Given the description of an element on the screen output the (x, y) to click on. 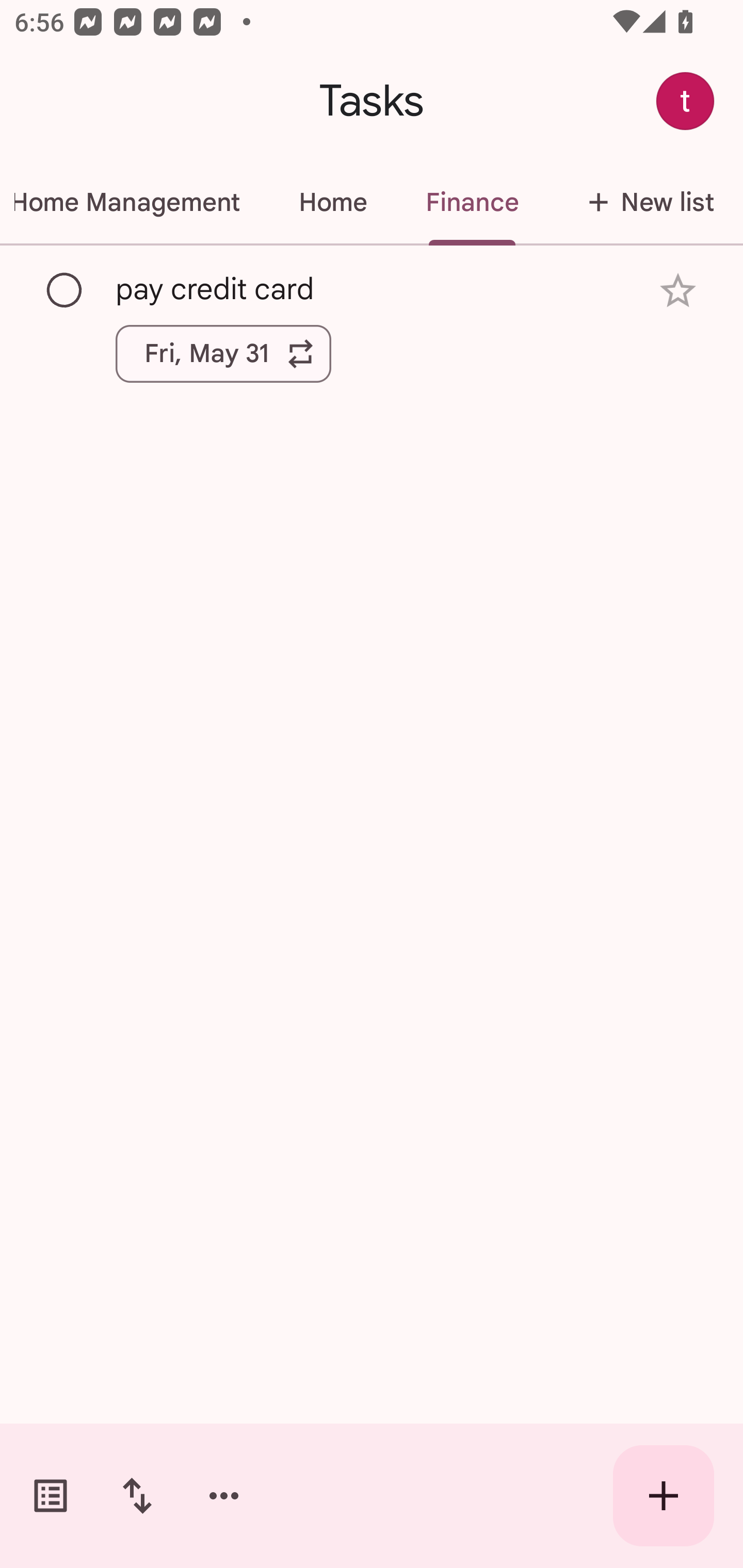
Home Management (134, 202)
Home (332, 202)
New list (645, 202)
Add star (677, 290)
Mark as complete (64, 290)
Fri, May 31 (223, 353)
Switch task lists (50, 1495)
Create new task (663, 1495)
Change sort order (136, 1495)
More options (223, 1495)
